Given the description of an element on the screen output the (x, y) to click on. 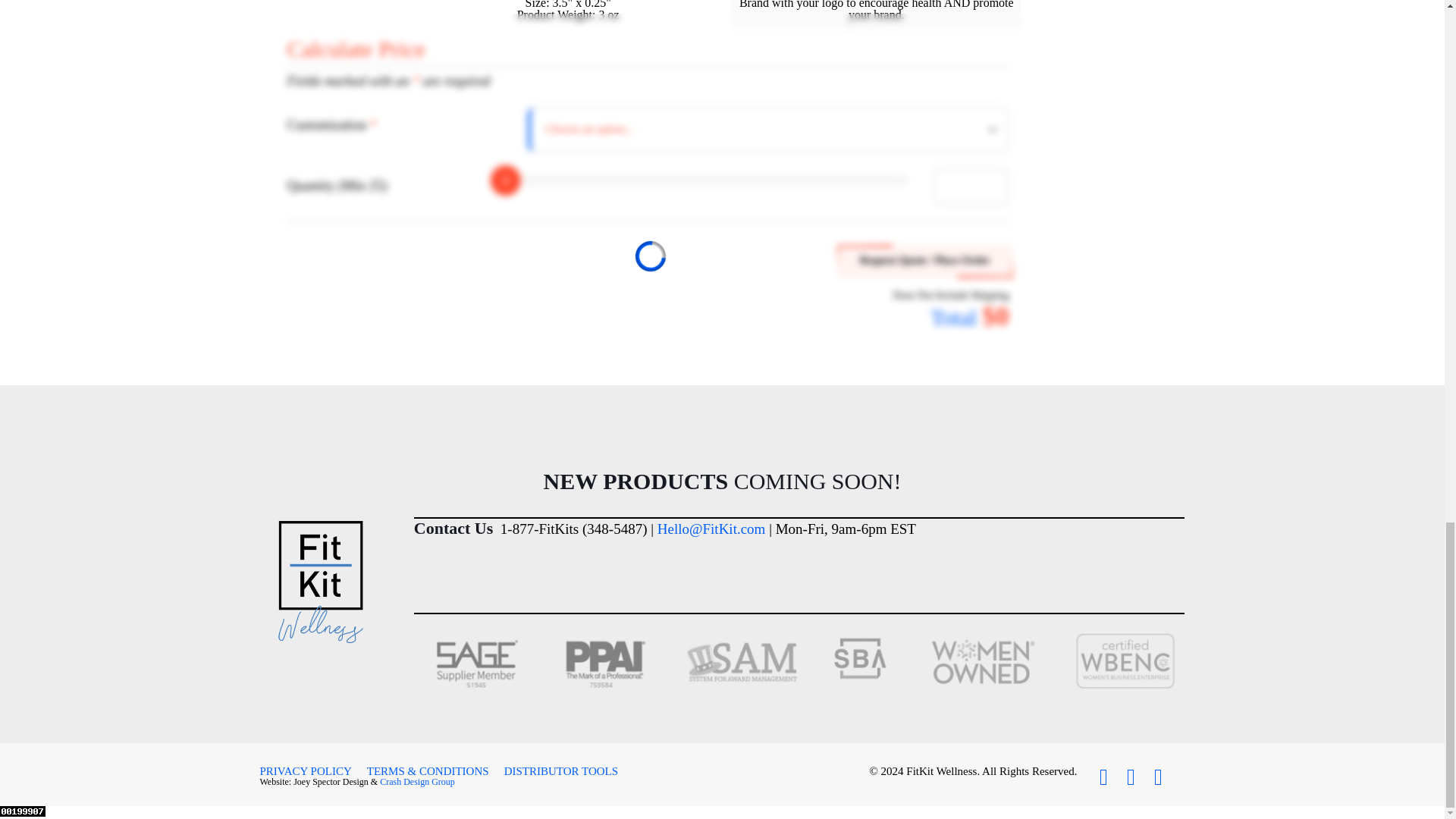
LinkedIn (1130, 776)
Facebook (1103, 776)
YouTube (1158, 776)
